Given the description of an element on the screen output the (x, y) to click on. 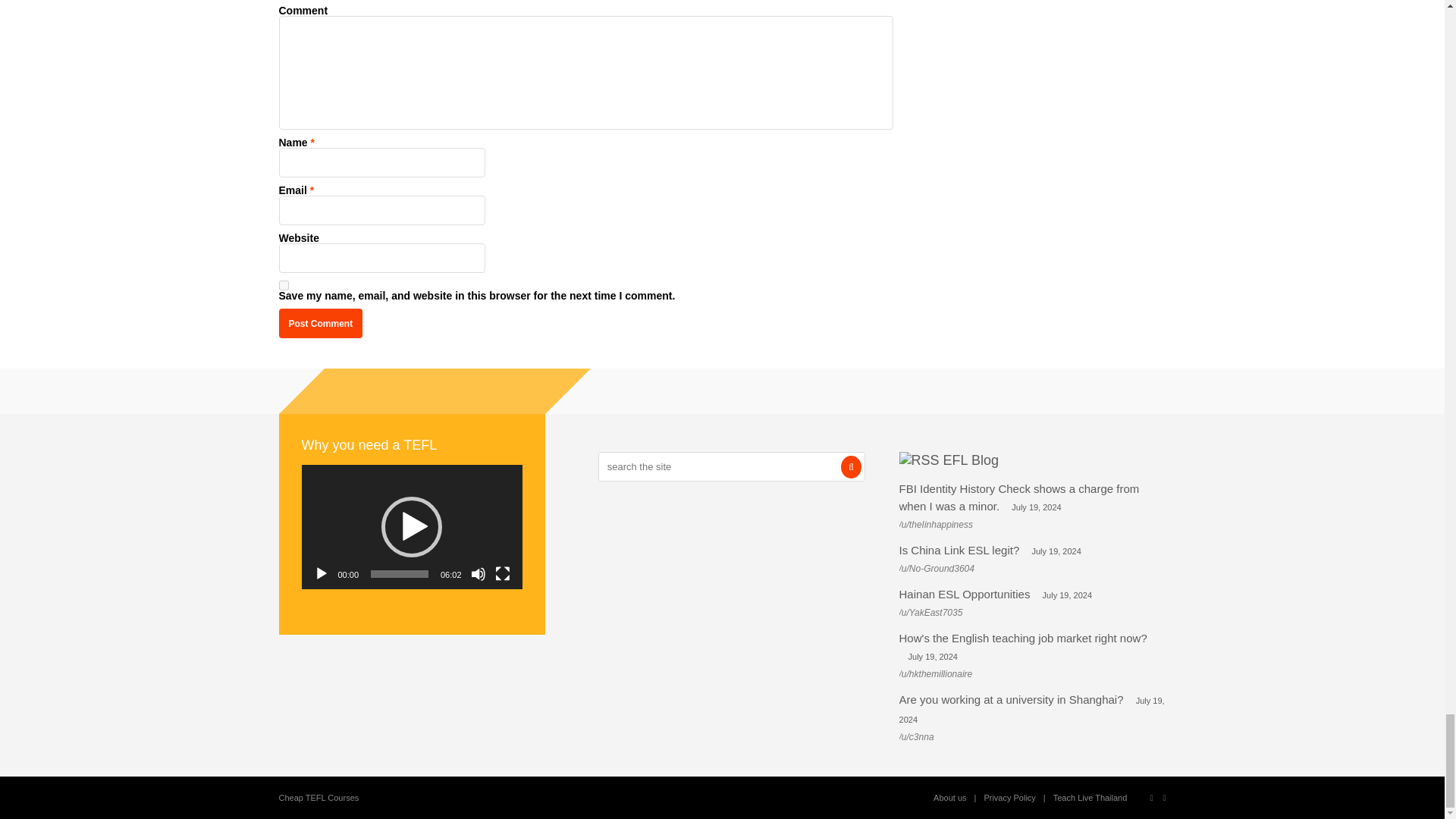
yes (283, 285)
Play (321, 573)
Mute (477, 573)
Post Comment (320, 323)
